Given the description of an element on the screen output the (x, y) to click on. 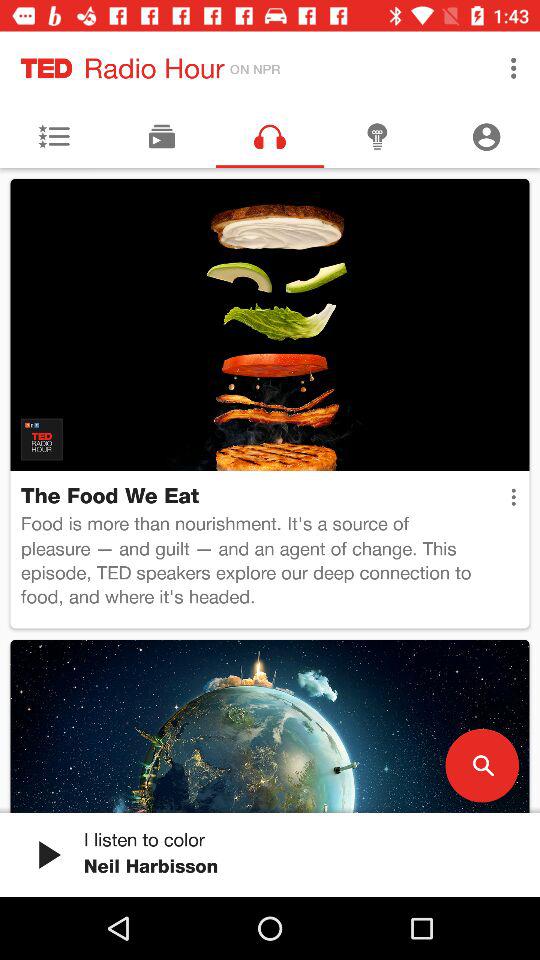
choose the item on the right (513, 497)
